Given the description of an element on the screen output the (x, y) to click on. 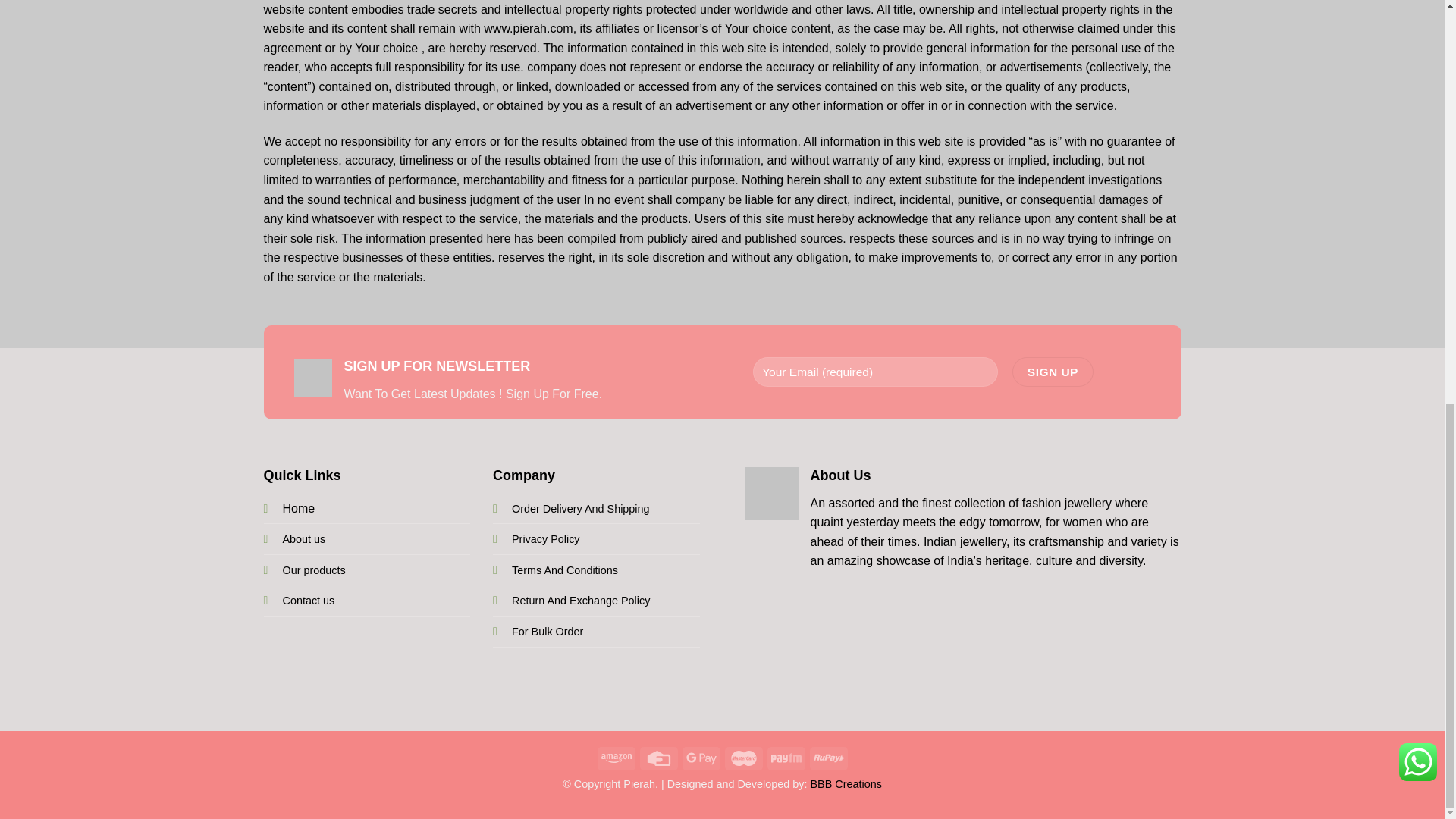
Terms And Conditions (564, 570)
Order Delivery And Shipping (580, 508)
Contact us (308, 600)
Home (298, 508)
For Bulk Order (547, 631)
Return And Exchange Policy (580, 600)
Sign Up (1052, 371)
Sign Up (1052, 371)
Privacy Policy (545, 539)
About us (303, 539)
